Given the description of an element on the screen output the (x, y) to click on. 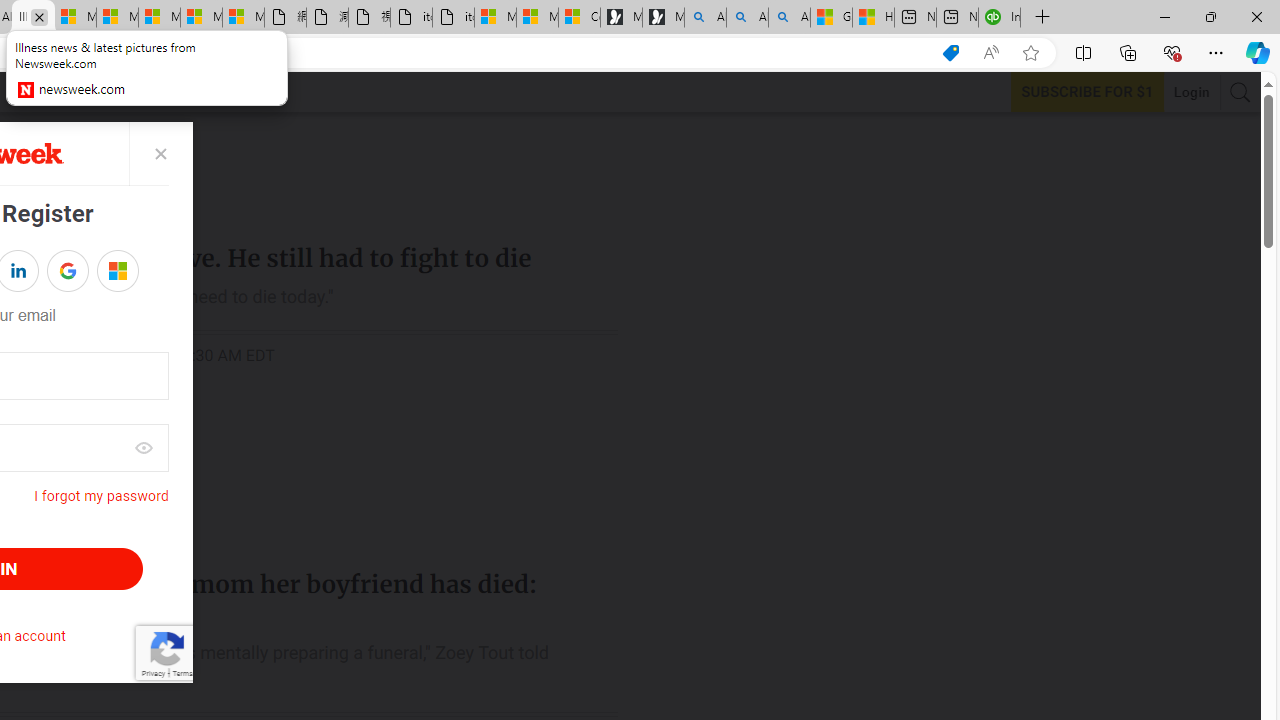
Sign in with GOOGLE (67, 270)
AutomationID: search-btn (1240, 92)
Illness news & latest pictures from Newsweek.com (32, 17)
